Given the description of an element on the screen output the (x, y) to click on. 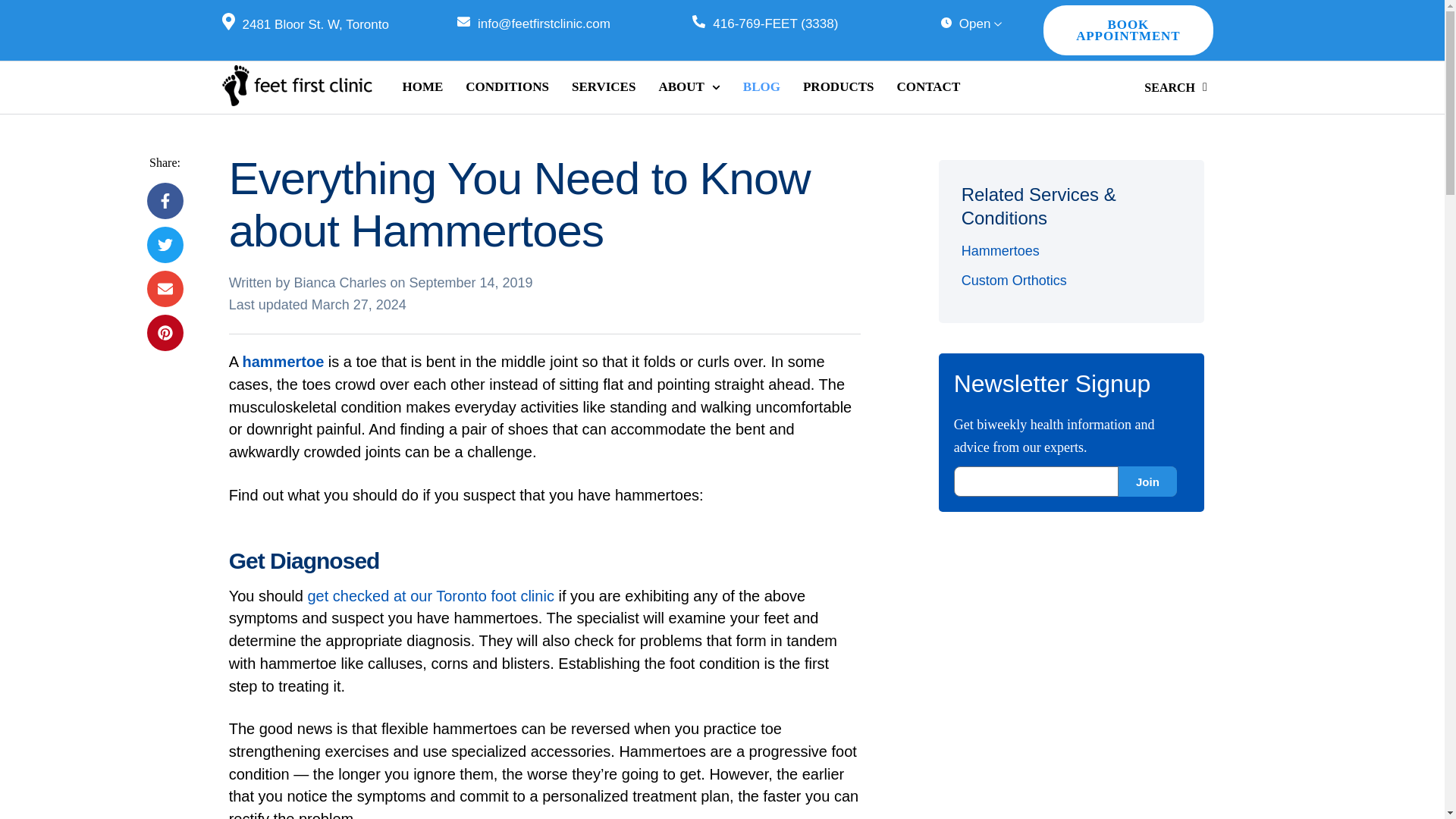
BOOK APPOINTMENT (1127, 29)
2481 Bloor St. W, Toronto (304, 24)
ABOUT (688, 87)
CONDITIONS (506, 87)
HOME (421, 87)
BLOG (761, 87)
PRODUCTS (839, 87)
SERVICES (603, 87)
CONTACT (927, 87)
